Given the description of an element on the screen output the (x, y) to click on. 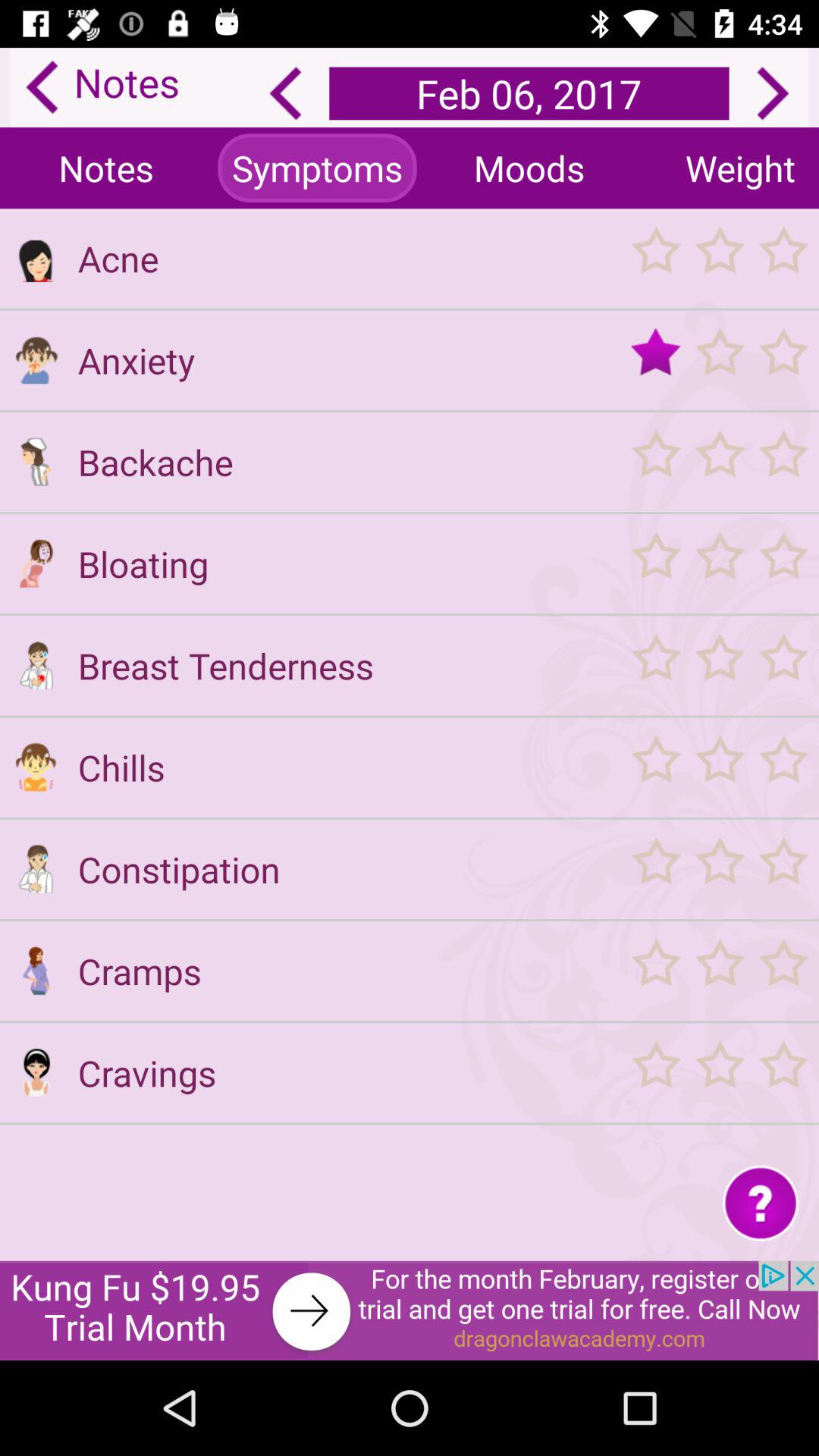
go to next day (772, 93)
